Given the description of an element on the screen output the (x, y) to click on. 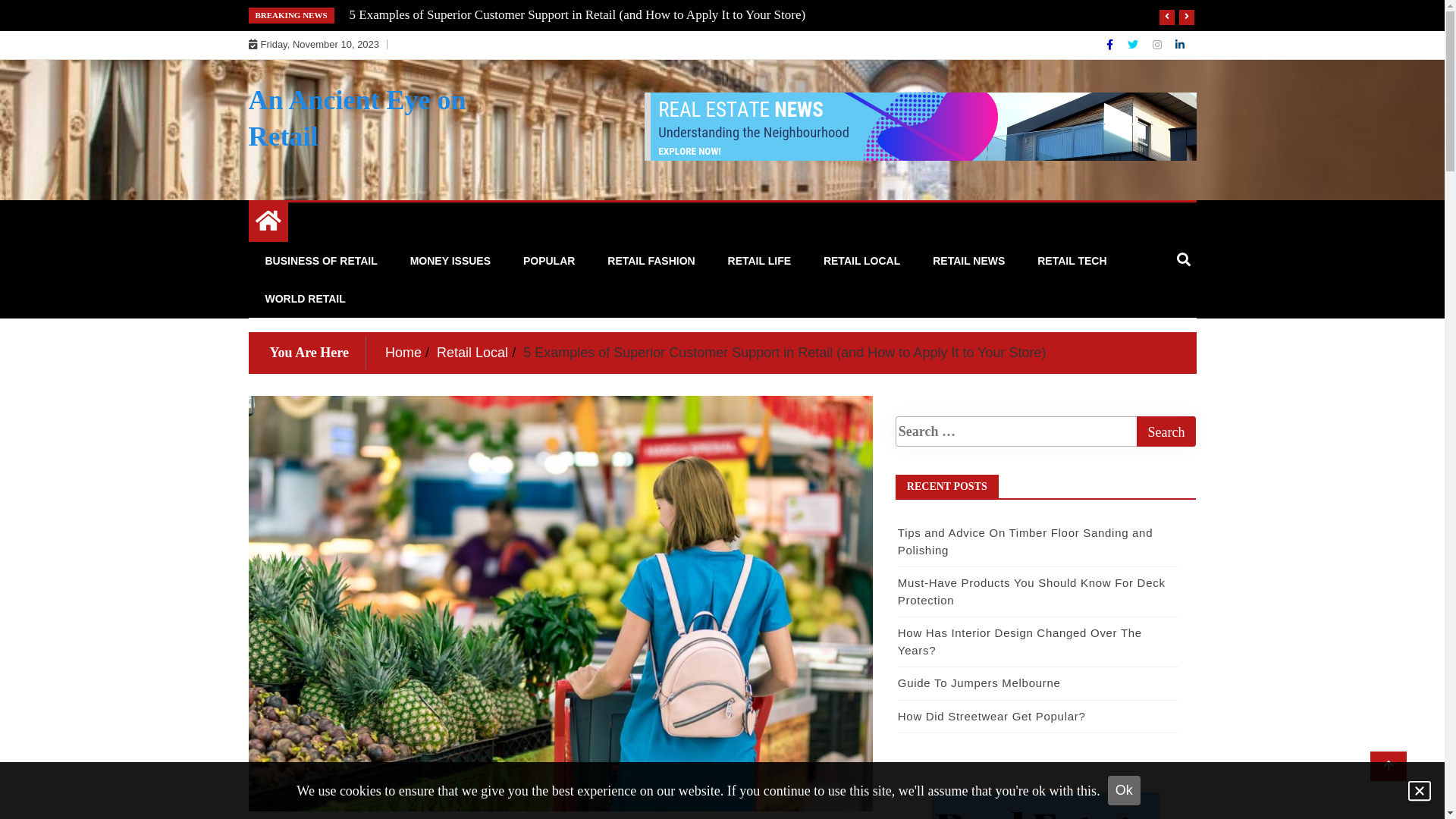
RETAIL TECH Element type: text (1071, 260)
MONEY ISSUES Element type: text (450, 260)
Guide To Jumpers Melbourne Element type: text (978, 682)
Linkdin Element type: hover (1179, 44)
RETAIL LOCAL Element type: text (861, 260)
Twitter Element type: hover (1134, 44)
Retail Local Element type: text (472, 352)
POPULAR Element type: text (548, 260)
RETAIL LIFE Element type: text (759, 260)
WORLD RETAIL Element type: text (304, 298)
Ok Element type: text (1123, 790)
Search Element type: text (1165, 431)
BUSINESS OF RETAIL Element type: text (320, 260)
Instagram Element type: hover (1158, 44)
Tips and Advice On Timber Floor Sanding and Polishing Element type: text (1024, 541)
An Ancient Eye on Retail Element type: text (357, 117)
Home Element type: text (403, 352)
Must-Have Products You Should Know For Deck Protection Element type: text (1031, 591)
How Has Interior Design Changed Over The Years? Element type: text (1019, 641)
Facebook Element type: hover (1111, 44)
How Did Streetwear Get Popular? Element type: text (991, 715)
RETAIL NEWS Element type: text (968, 260)
RETAIL FASHION Element type: text (651, 260)
